Given the description of an element on the screen output the (x, y) to click on. 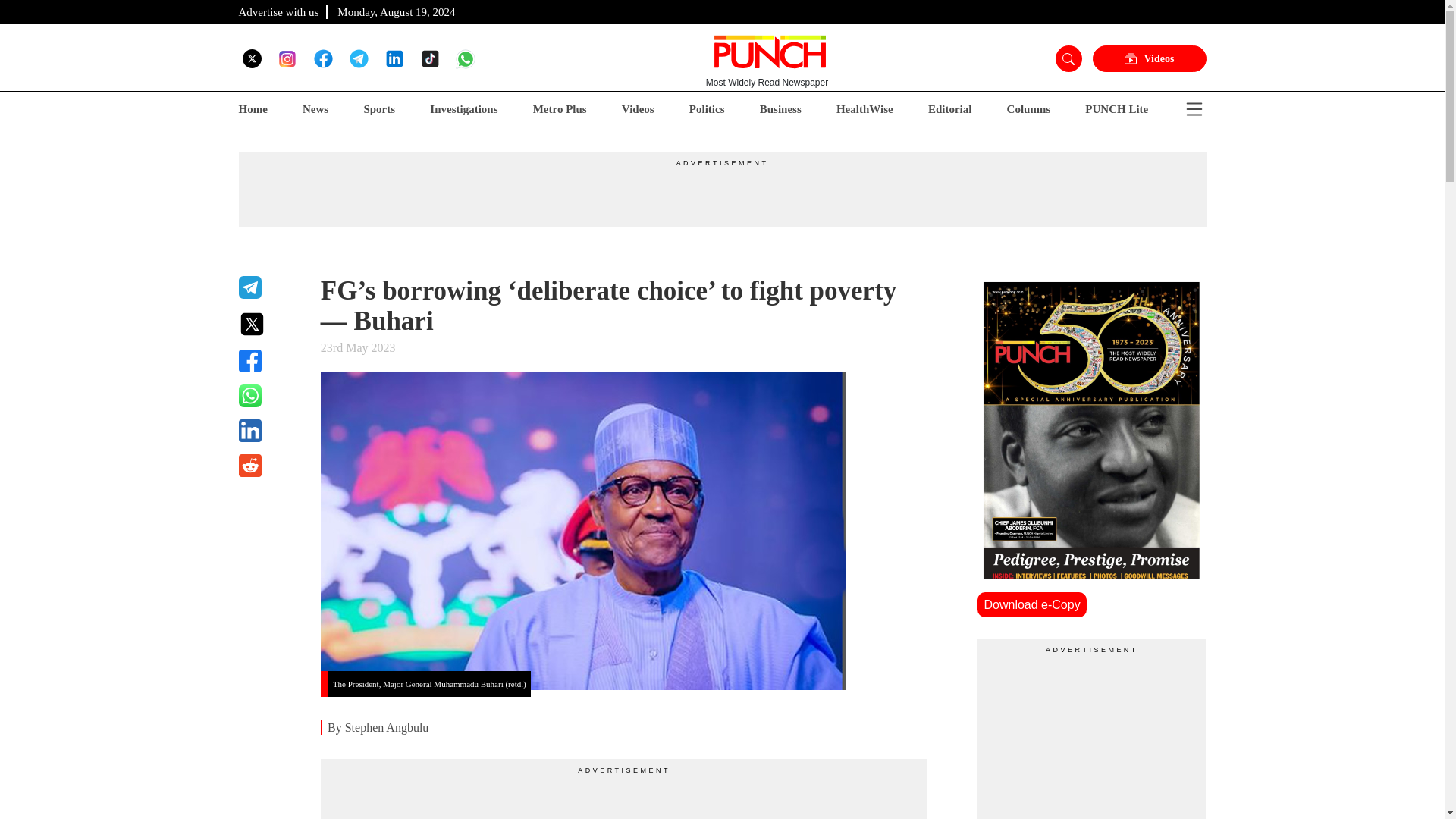
Share on Linkedin (269, 430)
Follow us on Tiktok (430, 58)
Follow Us on X (252, 58)
Share on Twitter (269, 324)
Monday, August 19, 2024 (395, 11)
Videos (1148, 58)
Advertisement (624, 797)
Metro Plus (559, 109)
Share on Facbook (269, 360)
Videos (637, 109)
